Given the description of an element on the screen output the (x, y) to click on. 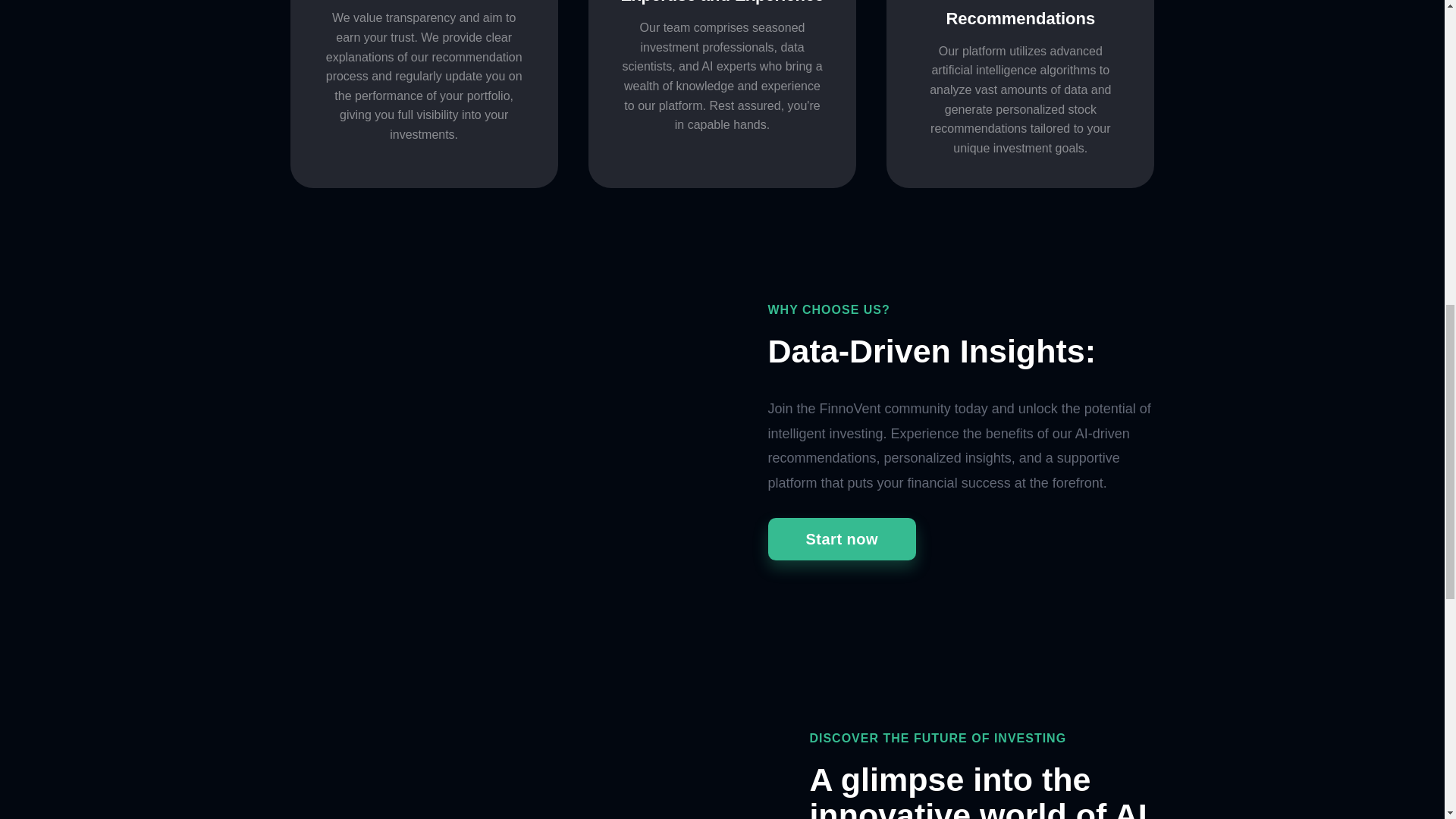
Start now (841, 538)
